Given the description of an element on the screen output the (x, y) to click on. 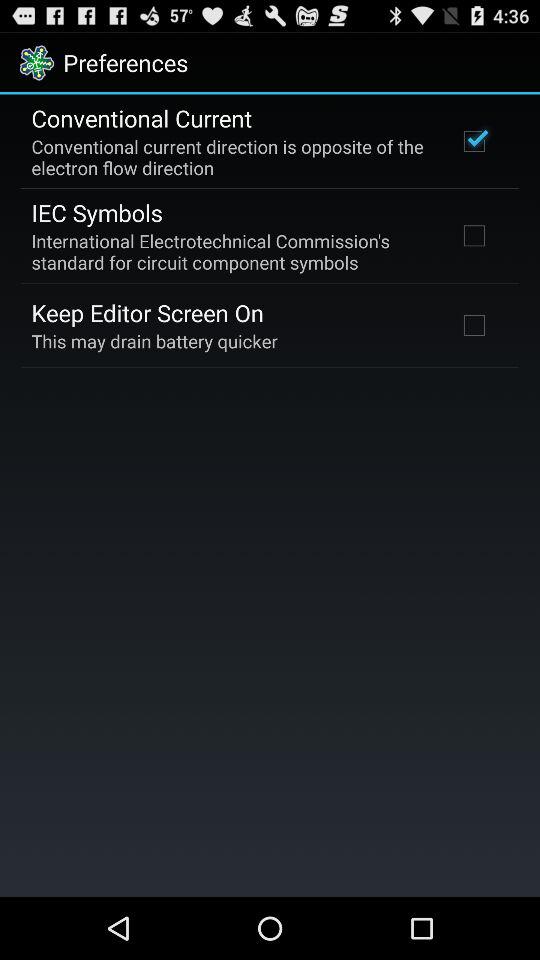
press the app below the iec symbols app (231, 251)
